Given the description of an element on the screen output the (x, y) to click on. 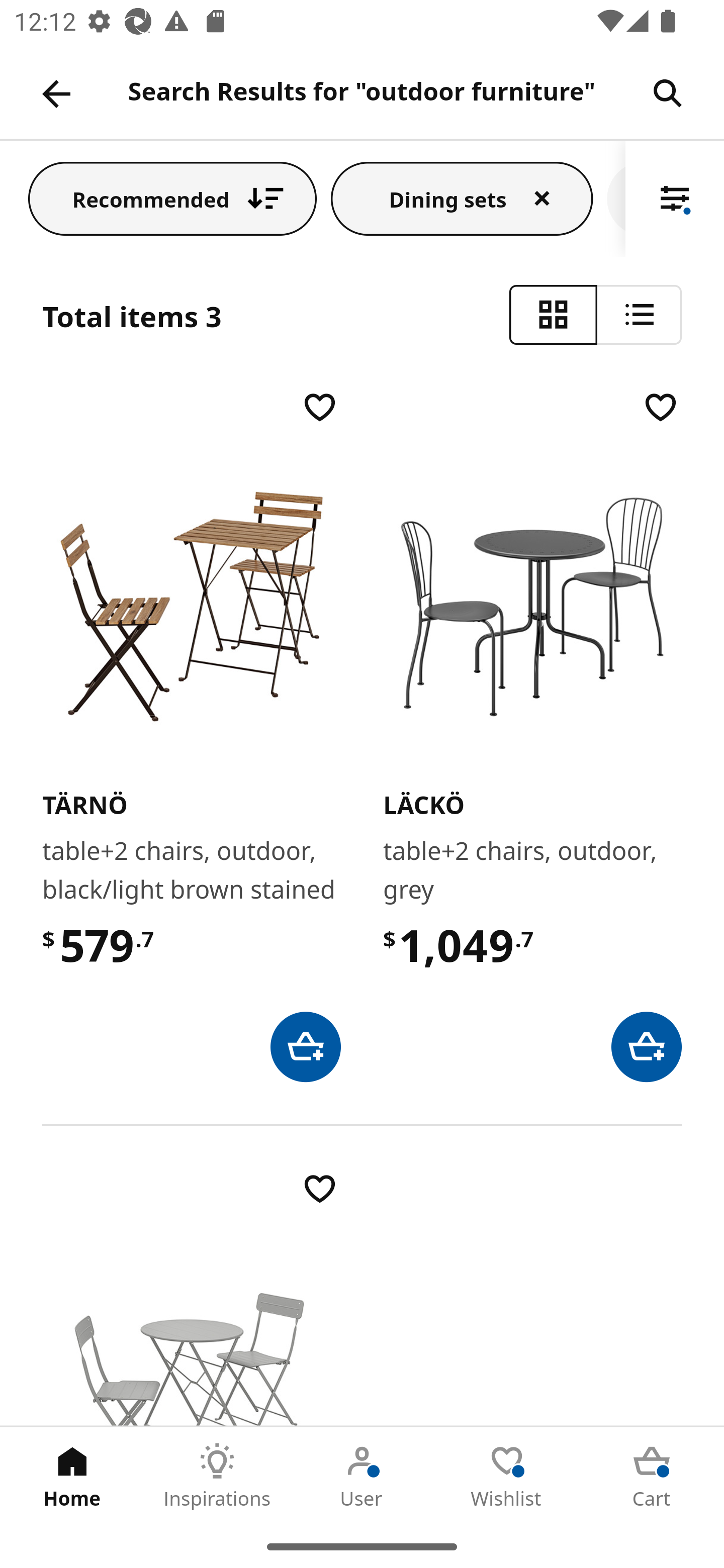
Recommended (172, 198)
Dining sets (461, 198)
Home
Tab 1 of 5 (72, 1476)
Inspirations
Tab 2 of 5 (216, 1476)
User
Tab 3 of 5 (361, 1476)
Wishlist
Tab 4 of 5 (506, 1476)
Cart
Tab 5 of 5 (651, 1476)
